Given the description of an element on the screen output the (x, y) to click on. 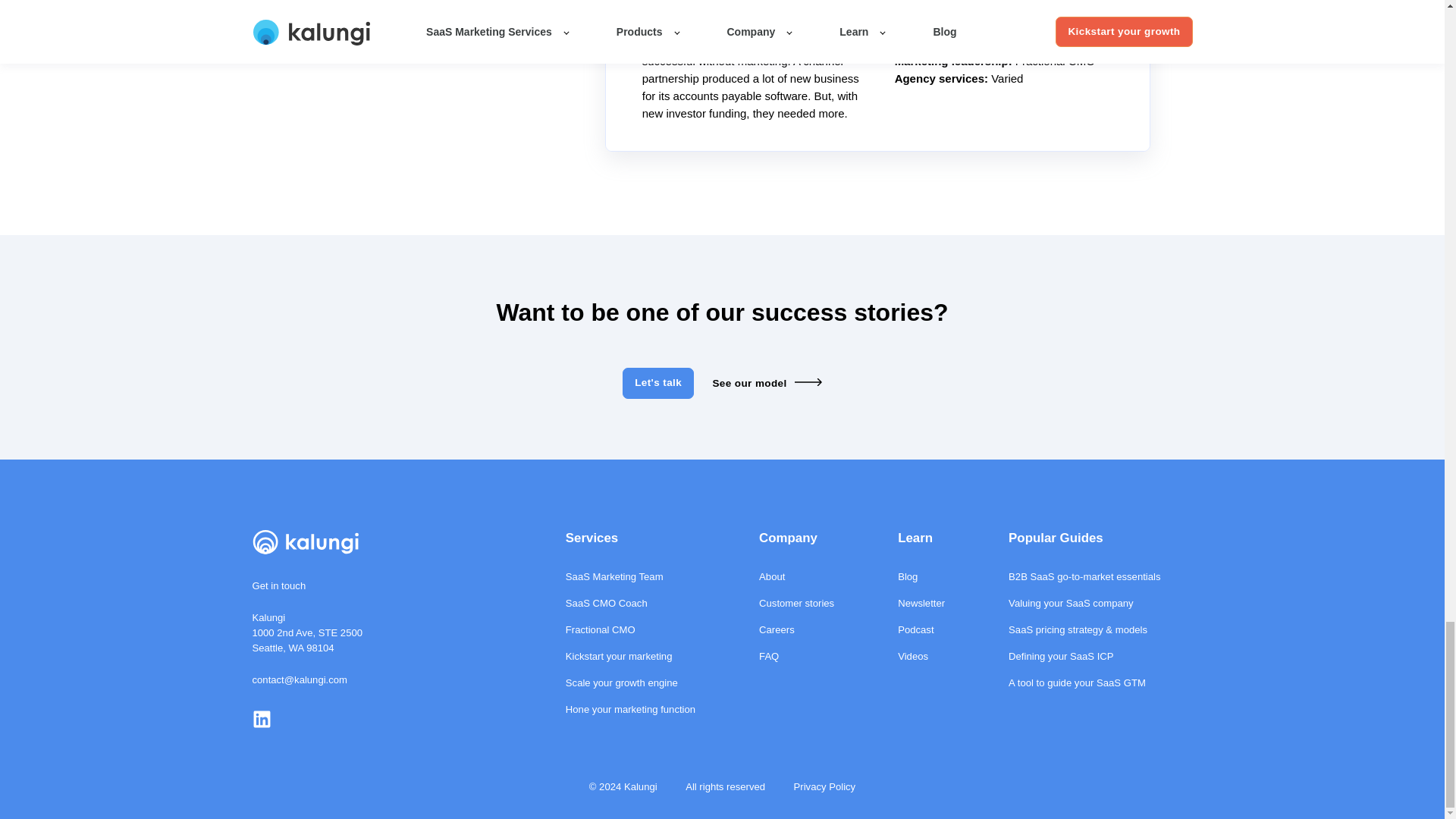
Get in touch (278, 585)
Let's talk (658, 382)
See our model (766, 383)
SaaS CMO Coach (630, 603)
Fractional CMO (630, 629)
SaaS Marketing Team (630, 576)
